Given the description of an element on the screen output the (x, y) to click on. 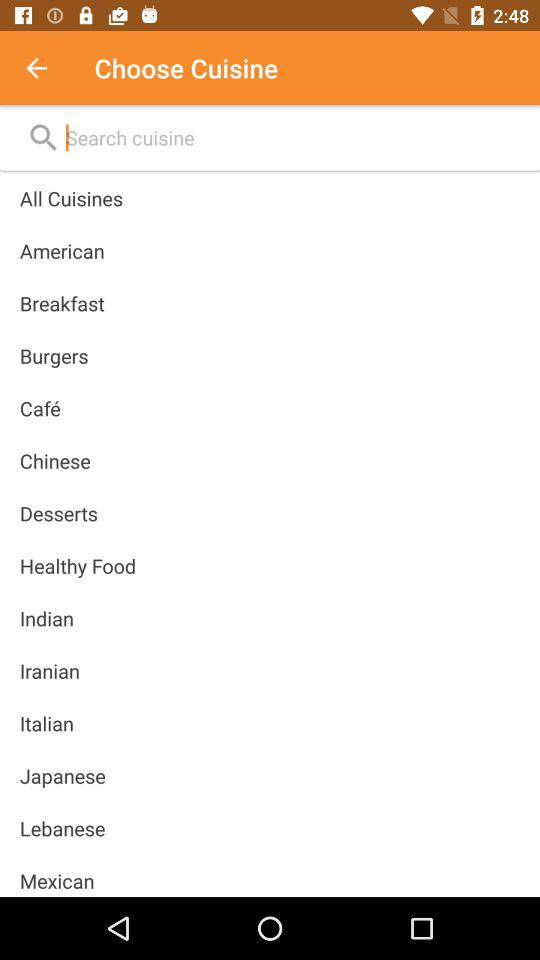
search bar (292, 137)
